Given the description of an element on the screen output the (x, y) to click on. 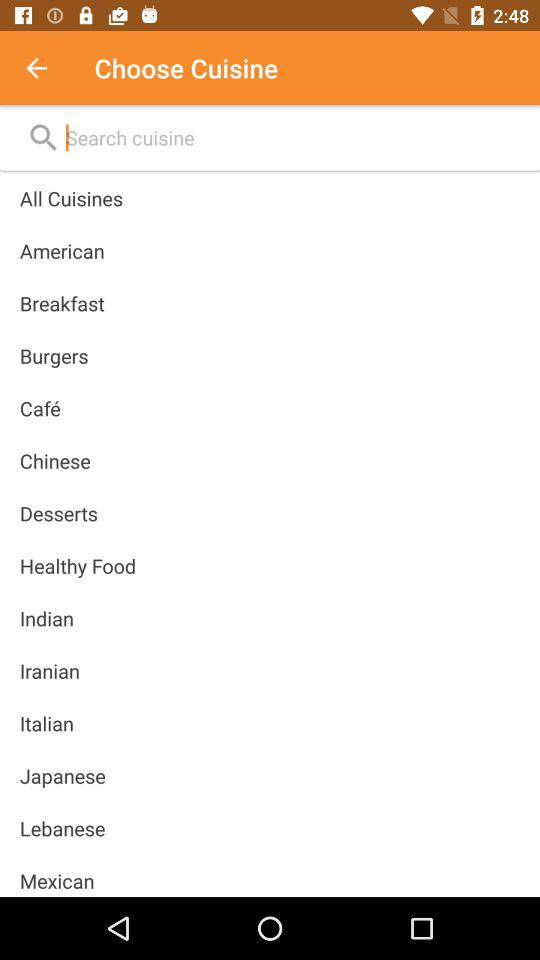
search bar (292, 137)
